Given the description of an element on the screen output the (x, y) to click on. 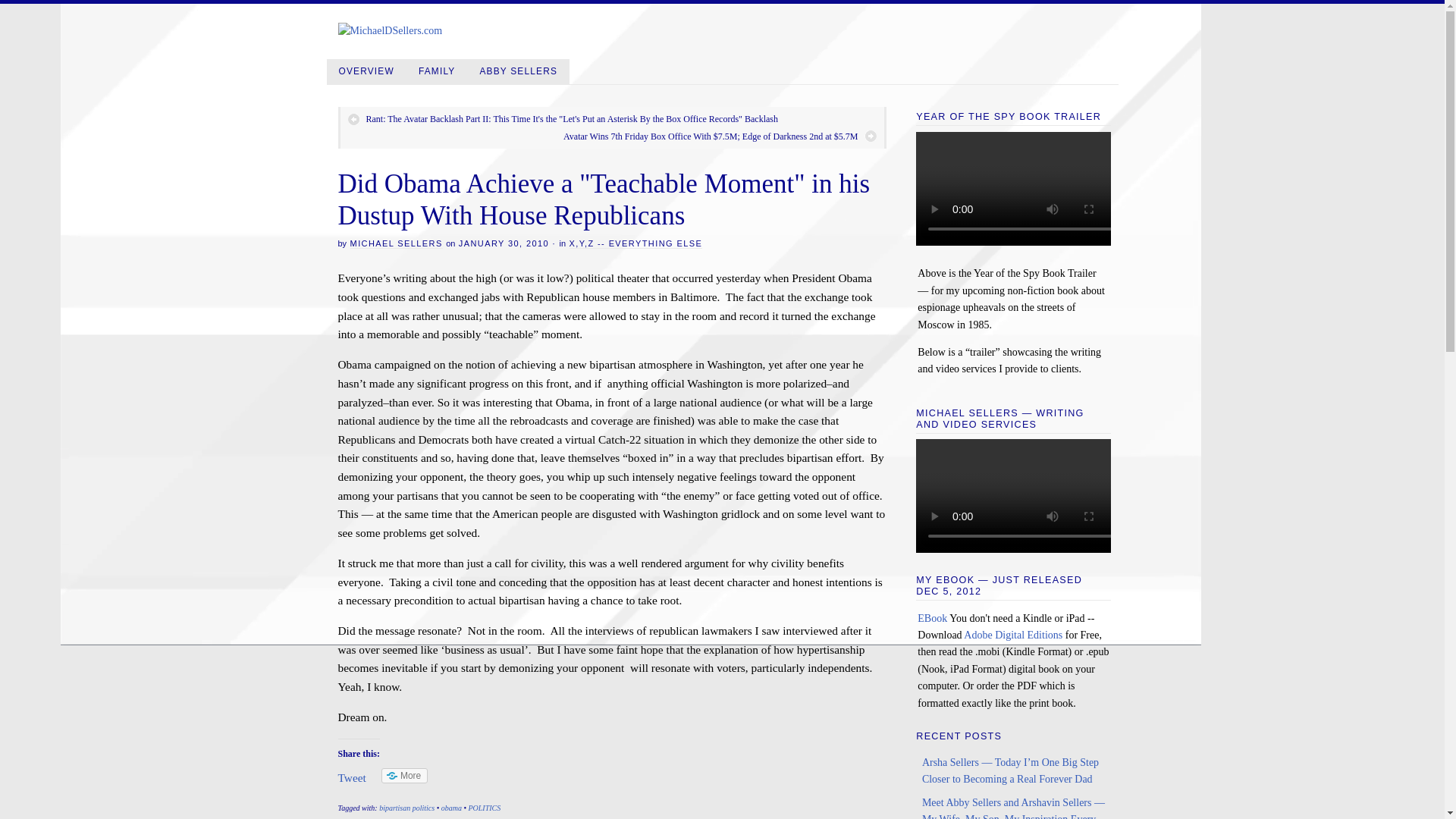
Tweet (351, 777)
OVERVIEW (366, 71)
obama (451, 807)
X,Y,Z -- EVERYTHING ELSE (635, 243)
POLITICS (483, 807)
EBook (932, 618)
MichaelDSellers.com (389, 30)
Adobe Digital Editions (1012, 634)
Posts by Michael Sellers (396, 243)
MICHAEL SELLERS (396, 243)
